Given the description of an element on the screen output the (x, y) to click on. 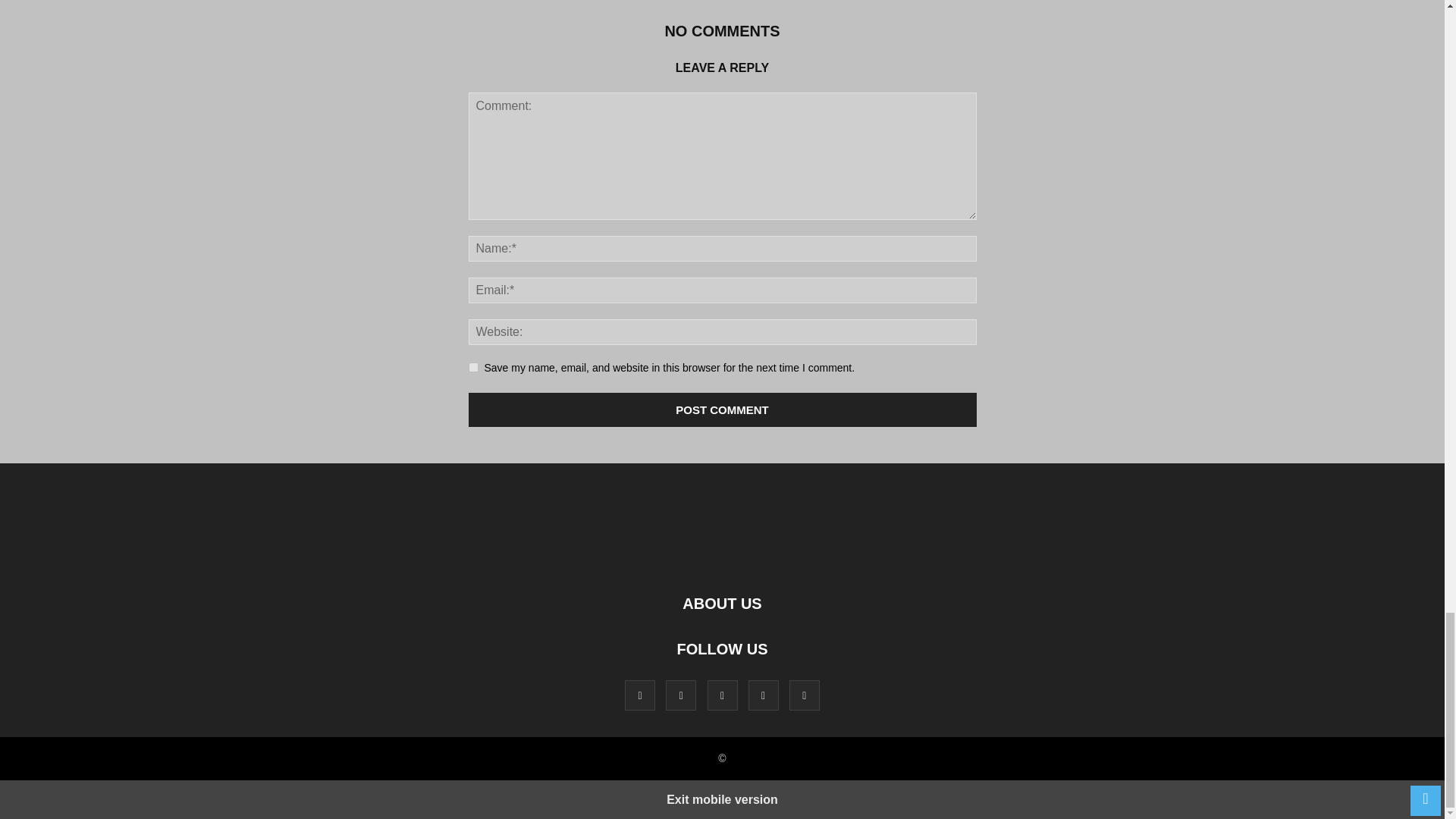
yes (473, 367)
Post Comment (722, 409)
